Given the description of an element on the screen output the (x, y) to click on. 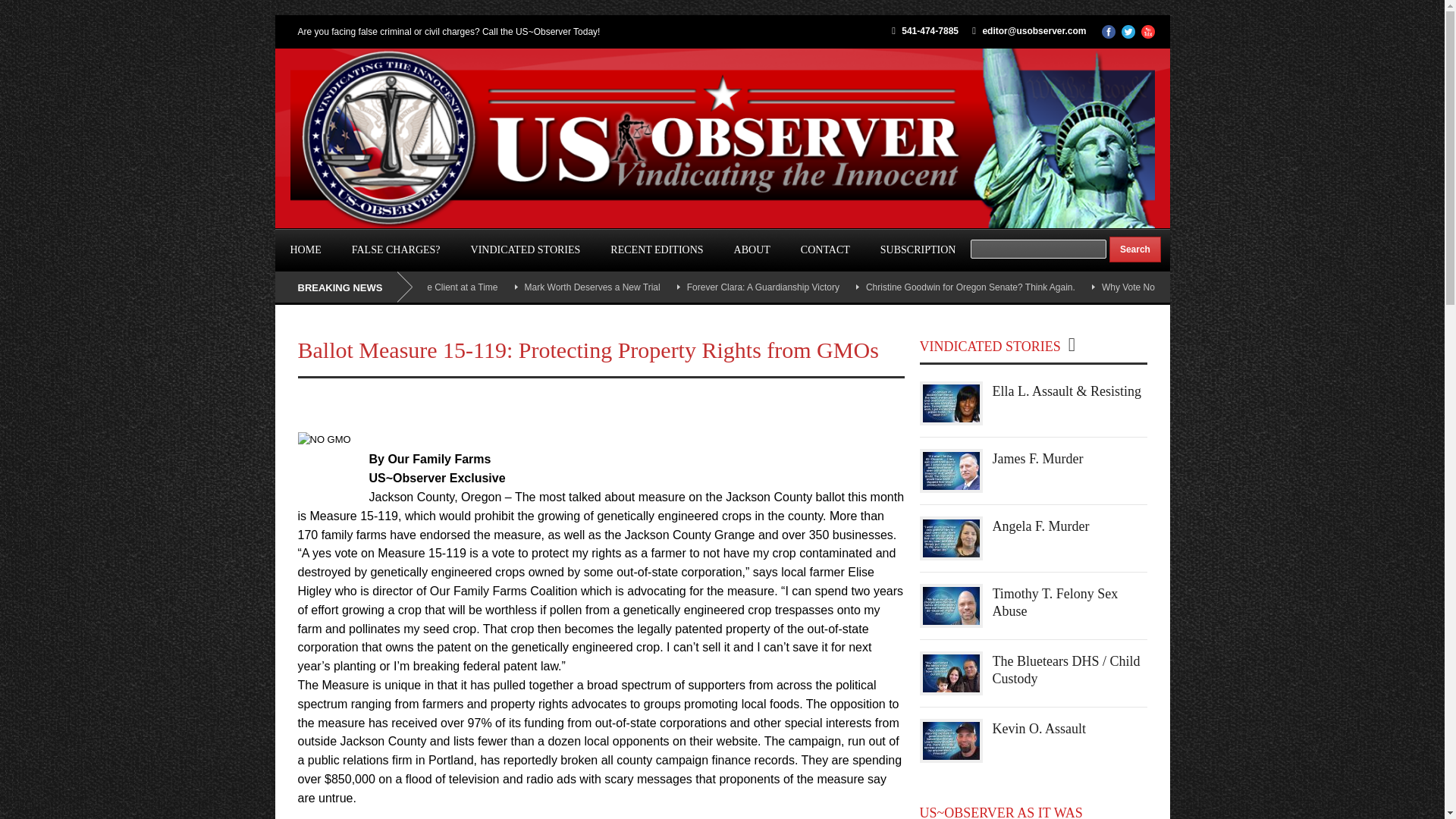
Forever Clara: A Guardianship Victory (763, 286)
RECENT EDITIONS (656, 250)
HOME (305, 250)
ABOUT (752, 250)
Mark Worth Deserves a New Trial (592, 286)
